Given the description of an element on the screen output the (x, y) to click on. 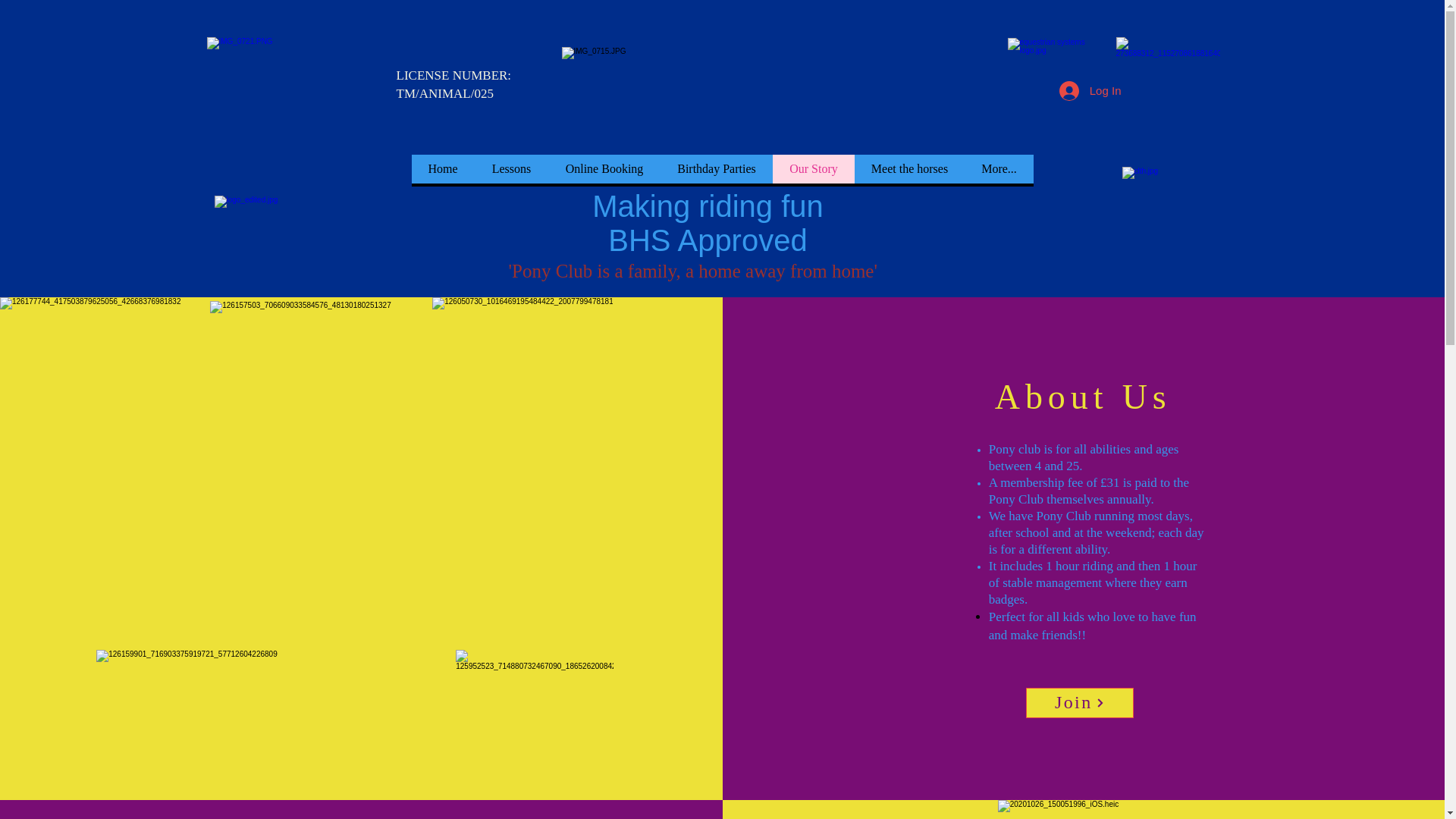
Online Booking (603, 168)
Join (1080, 702)
Lessons (511, 168)
Our Story (812, 168)
Meet the horses (908, 168)
Birthday Parties (715, 168)
Home (442, 168)
Log In (1090, 90)
